Given the description of an element on the screen output the (x, y) to click on. 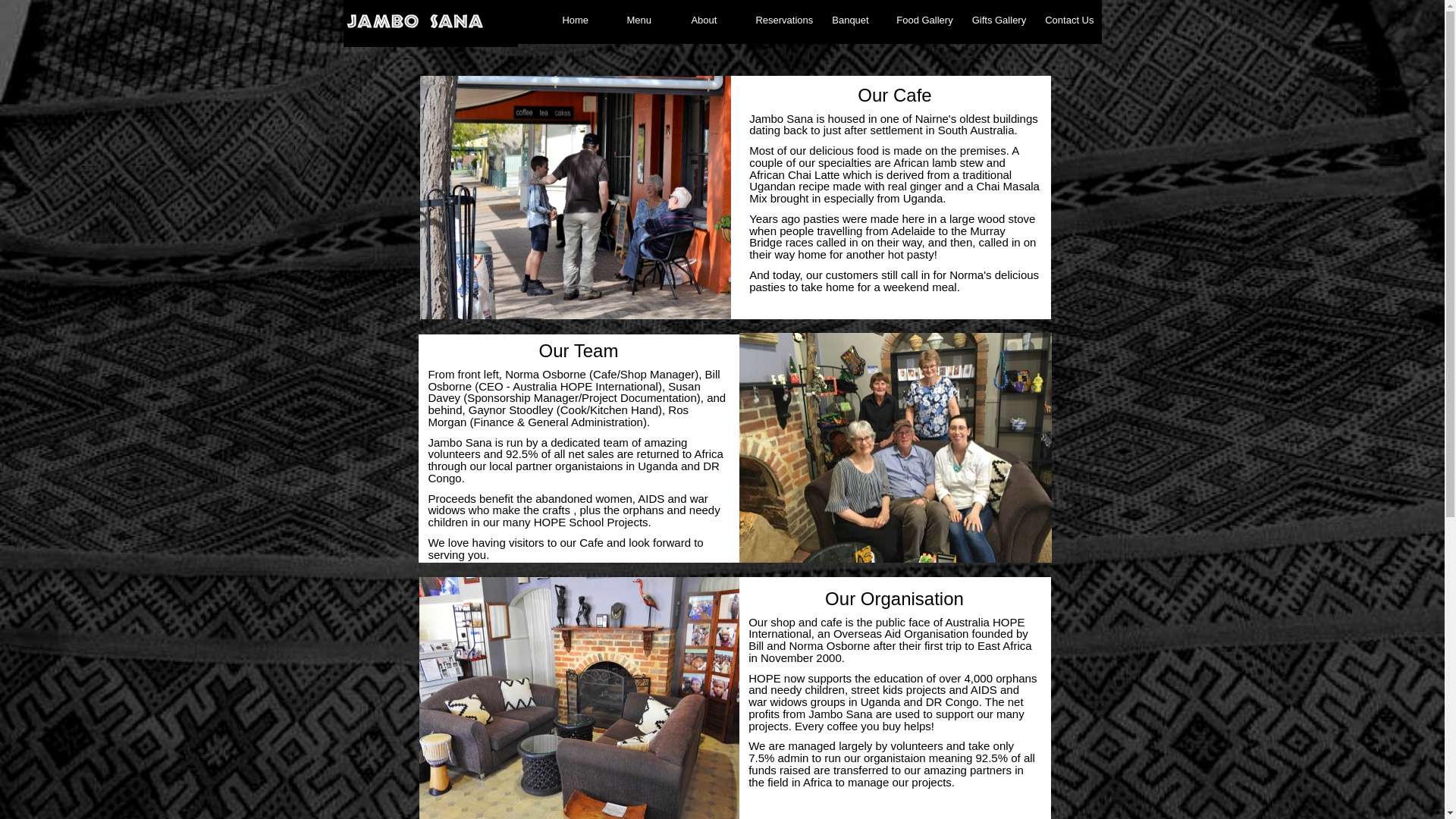
Gifts Gallery Element type: text (999, 20)
Banquet Element type: text (854, 20)
Home Element type: text (584, 20)
Contact Us Element type: text (1069, 20)
Menu Element type: text (648, 20)
Food Gallery Element type: text (924, 20)
About Element type: text (713, 20)
Reservations Element type: text (783, 20)
